Given the description of an element on the screen output the (x, y) to click on. 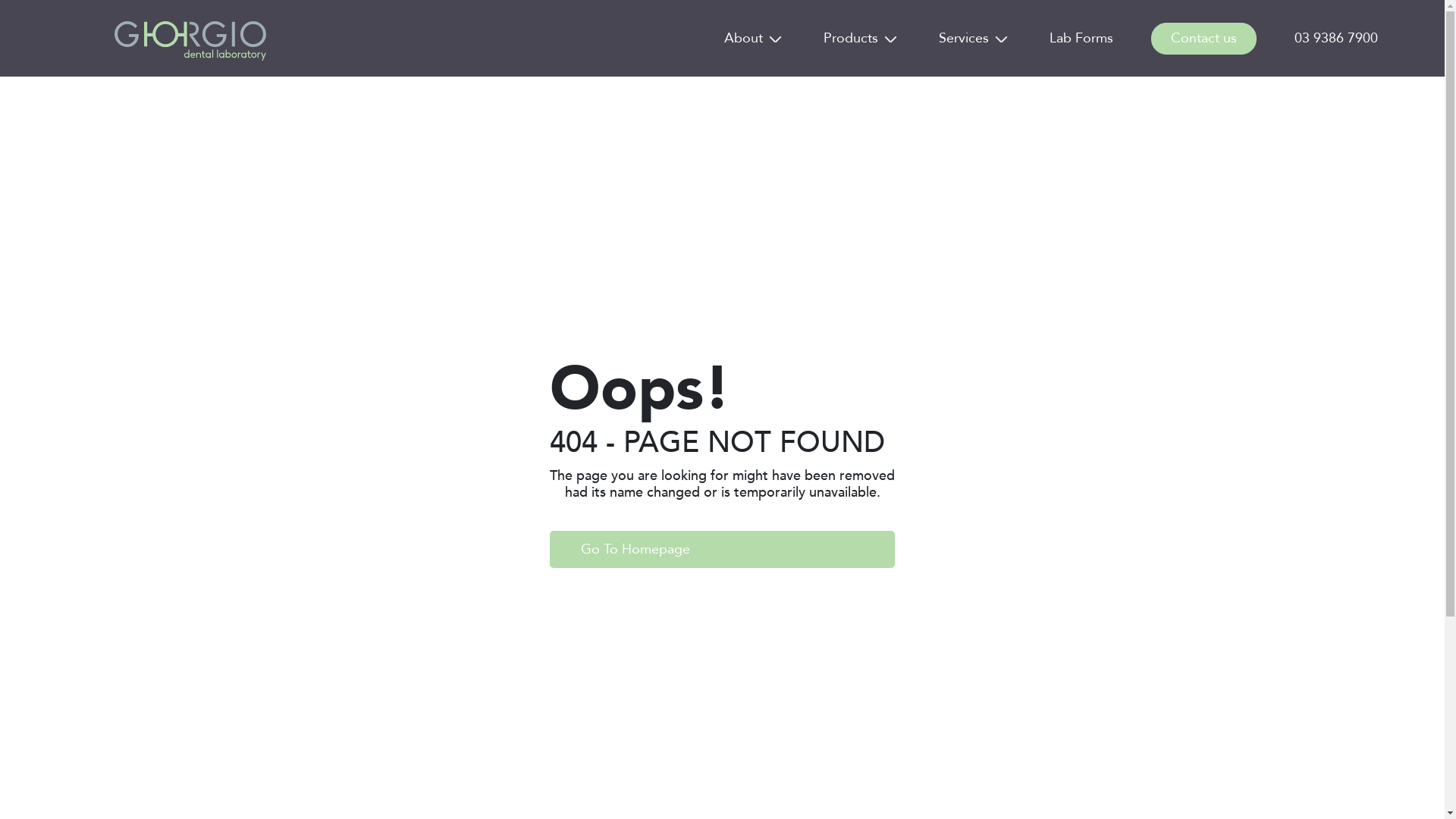
About Element type: text (743, 37)
Go To Homepage Element type: text (721, 548)
Contact us Element type: text (1203, 37)
Services Element type: text (963, 37)
Products Element type: text (850, 37)
03 9386 7900 Element type: text (1335, 37)
Lab Forms Element type: text (1081, 37)
